Given the description of an element on the screen output the (x, y) to click on. 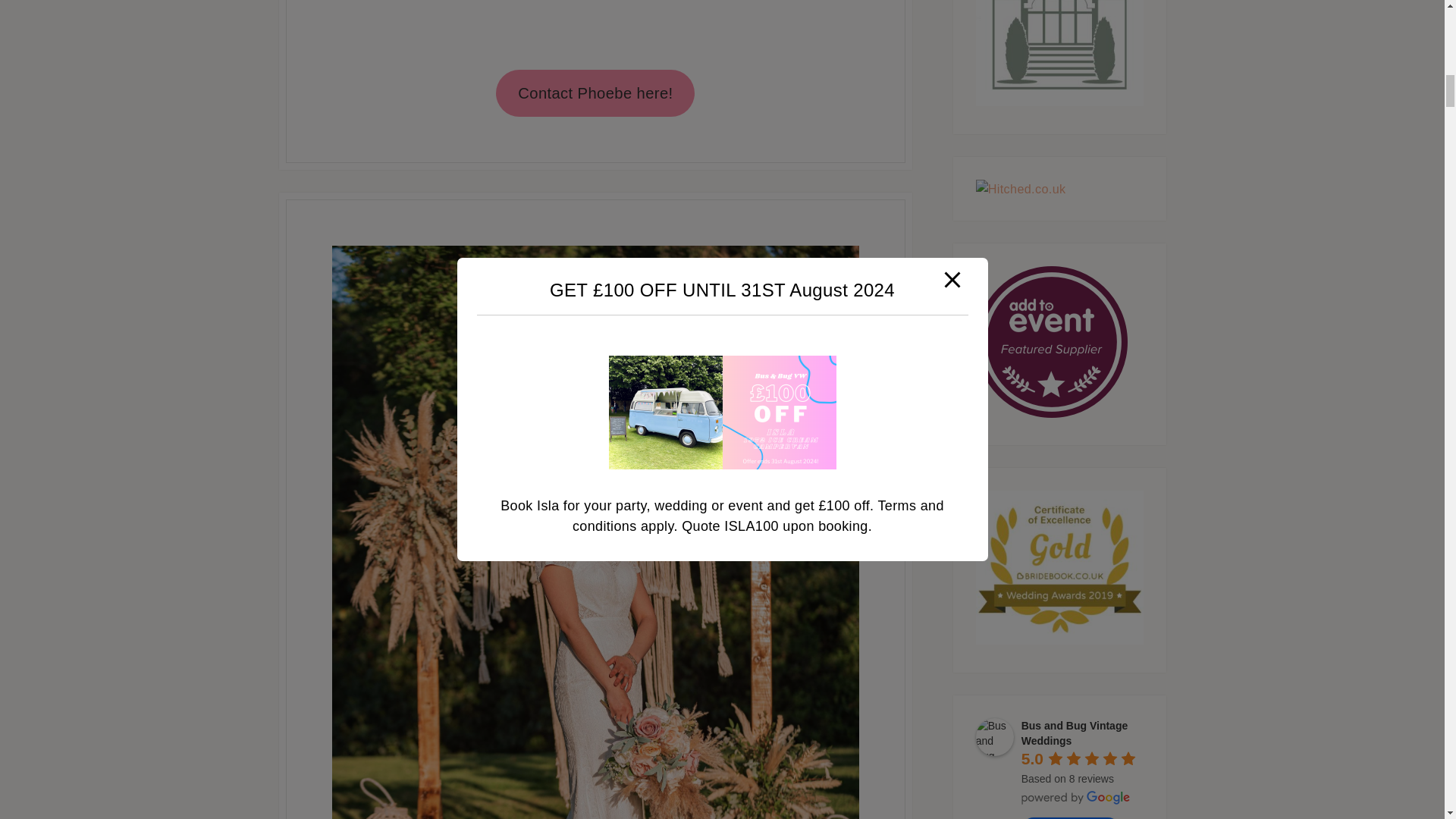
Contact Phoebe here! (595, 92)
powered by Google (1076, 797)
Hitched.co.uk (1020, 188)
Bus and Bug Vintage Weddings (994, 736)
